Given the description of an element on the screen output the (x, y) to click on. 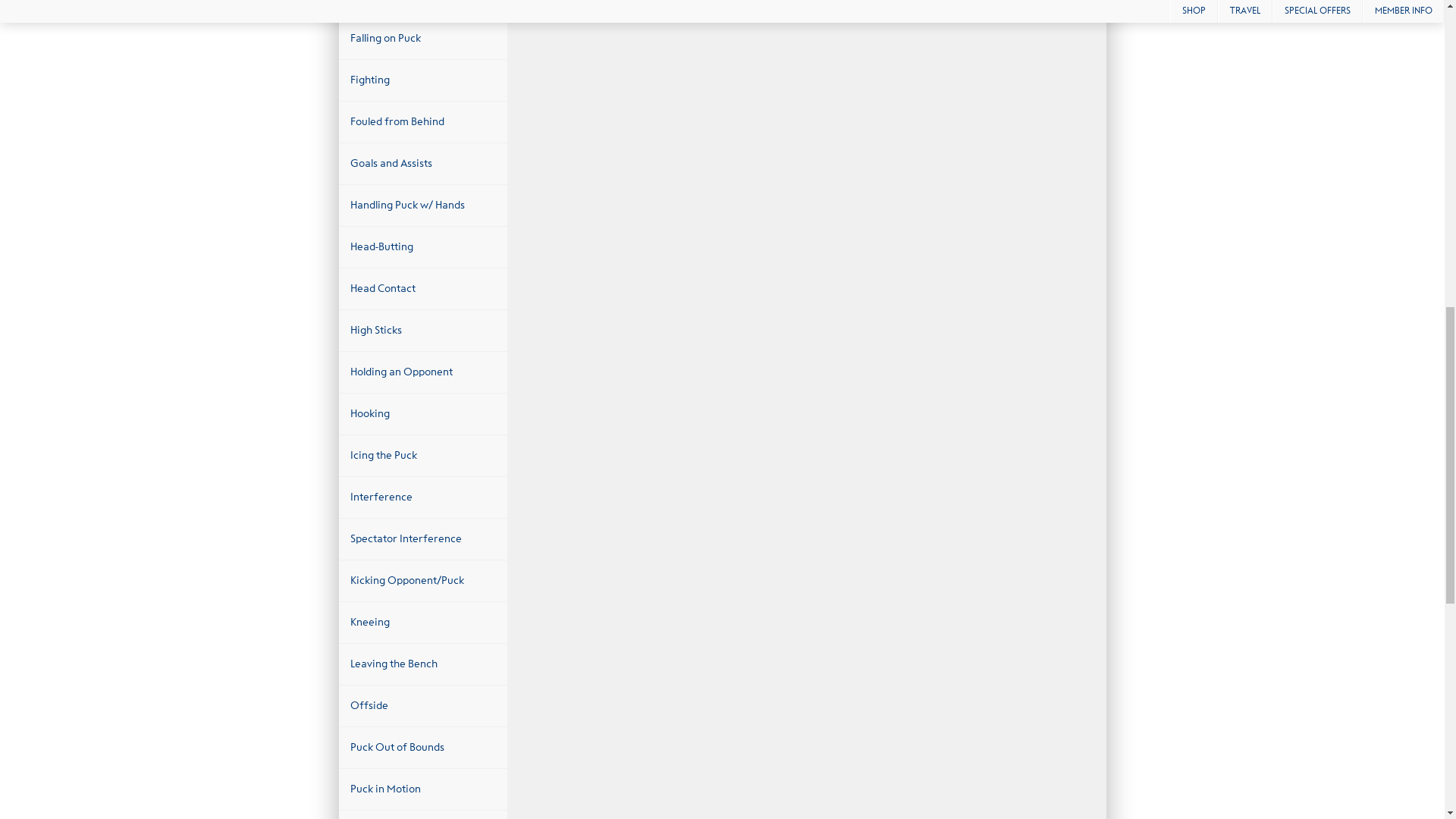
Fighting (421, 79)
Holding an Opponent (421, 372)
High Sticks (421, 330)
Kneeing (421, 621)
Spectator Interference (421, 538)
Icing the Puck (421, 454)
Leaving the Bench (421, 663)
Goals and Assists (421, 163)
Hooking (421, 413)
Head Contact (421, 288)
